Given the description of an element on the screen output the (x, y) to click on. 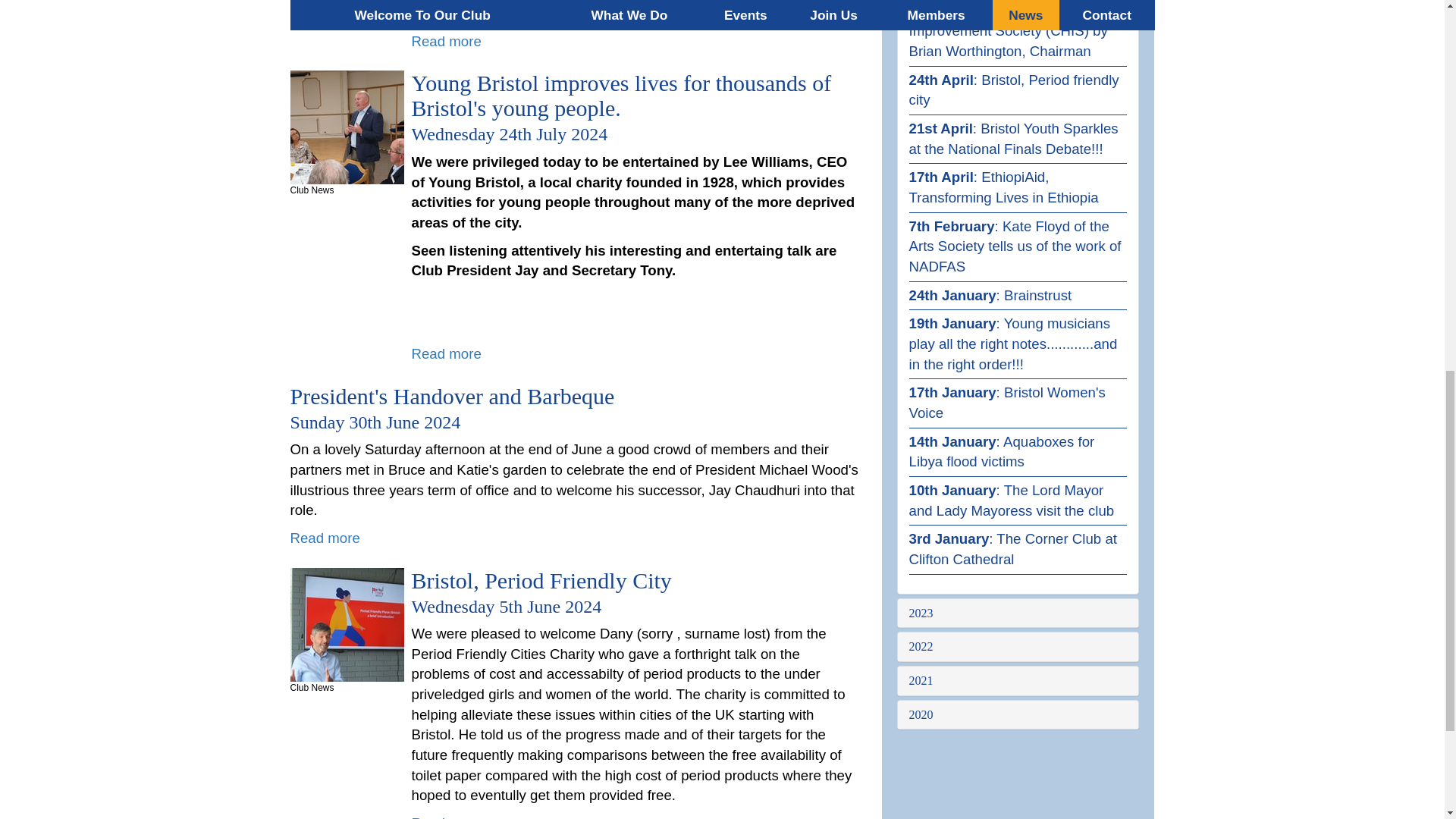
3rd January: The Corner Club at Clifton Cathedral (1012, 548)
17th January: Bristol Women's Voice (1006, 402)
17th April: EthiopiAid, Transforming Lives in Ethiopia (1002, 186)
24th April: Bristol, Period friendly city (1013, 90)
Read more (445, 41)
Read more (324, 537)
14th January: Aquaboxes for Libya flood victims (1001, 452)
24th January: Brainstrust (989, 295)
Read more (445, 353)
Read more (445, 816)
